Given the description of an element on the screen output the (x, y) to click on. 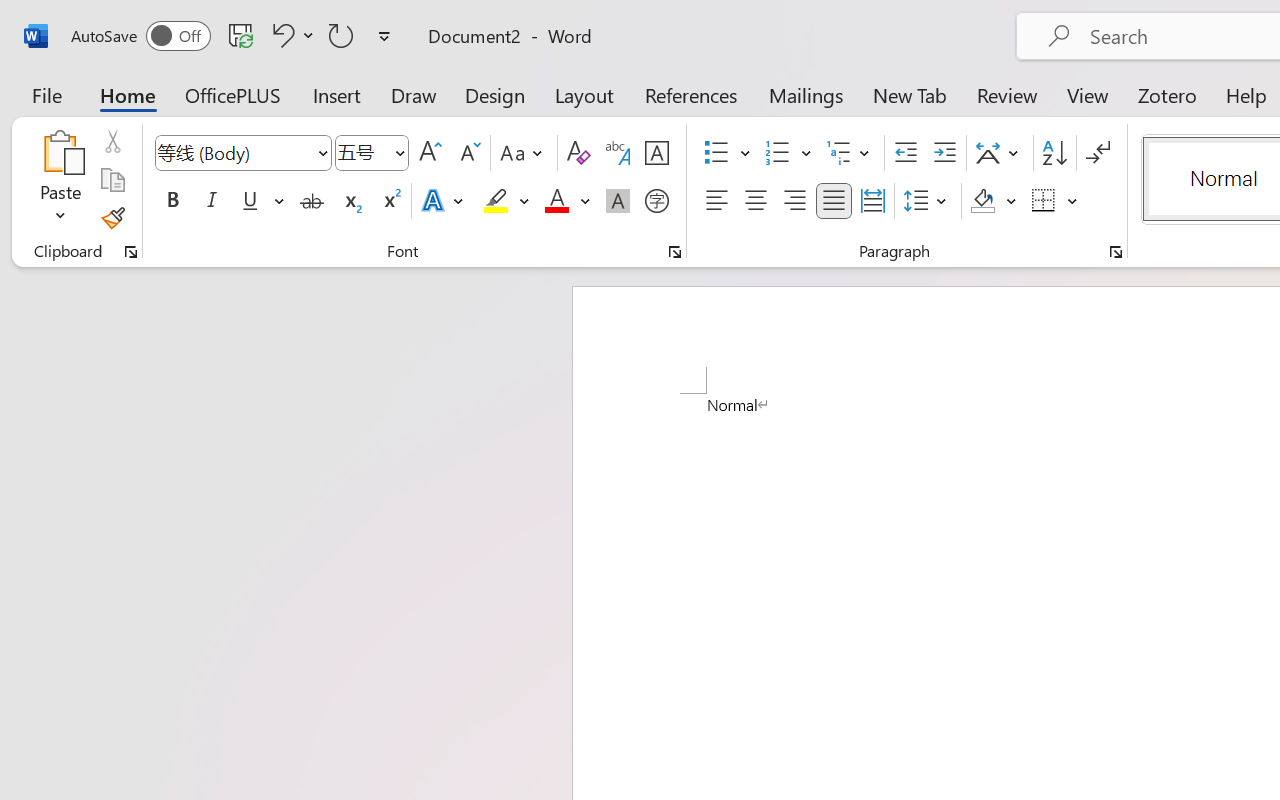
Shading RGB(0, 0, 0) (982, 201)
Borders (1055, 201)
Font... (675, 252)
Text Highlight Color (506, 201)
Text Effects and Typography (444, 201)
Superscript (390, 201)
Italic (212, 201)
Justify (834, 201)
Borders (1044, 201)
Insert (337, 94)
Font Color (567, 201)
Center (756, 201)
Underline (261, 201)
Mailings (806, 94)
Home (127, 94)
